Given the description of an element on the screen output the (x, y) to click on. 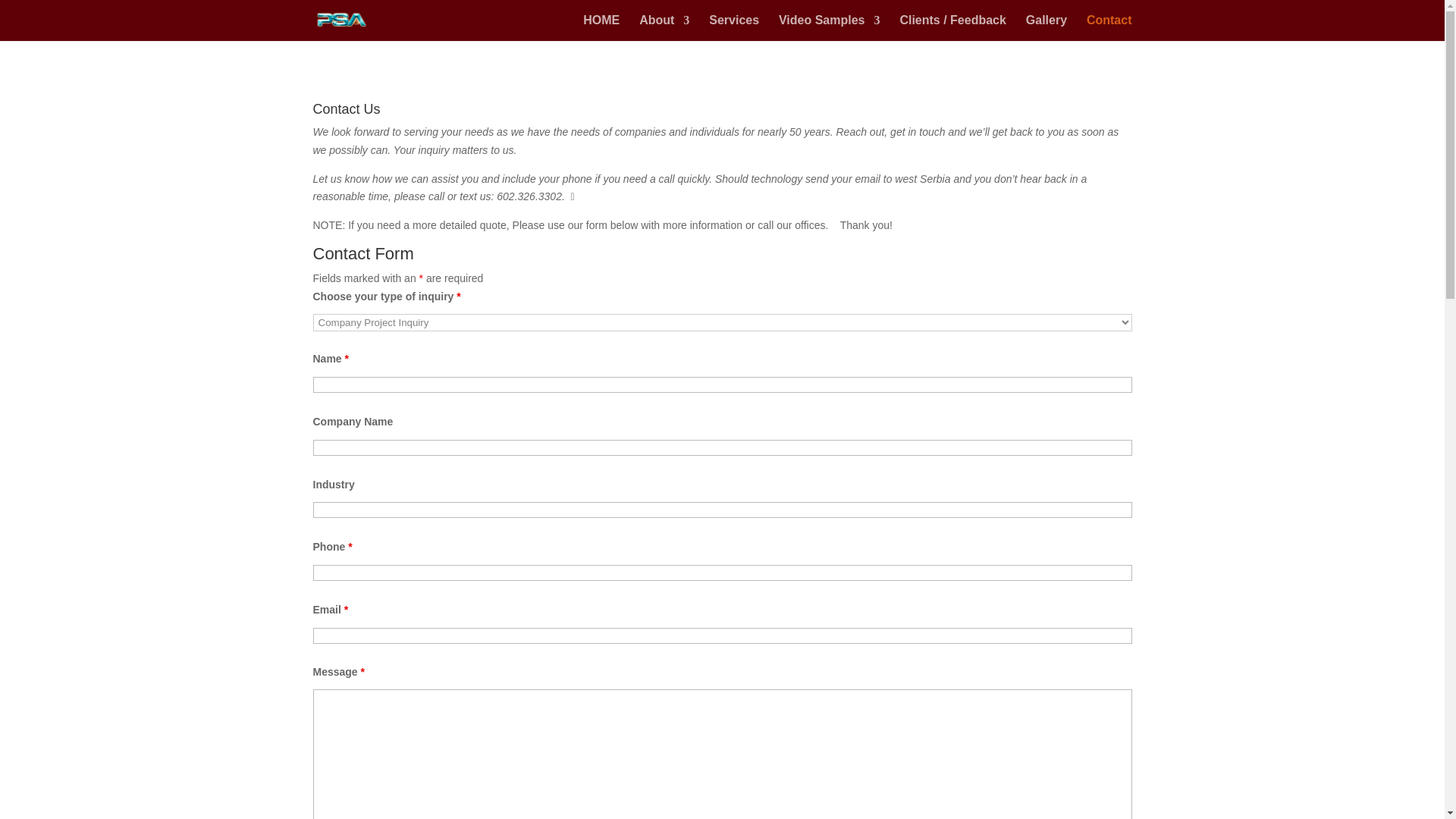
About (663, 27)
Gallery (1046, 27)
Contact (1109, 27)
Video Samples (829, 27)
HOME (601, 27)
Services (733, 27)
